Given the description of an element on the screen output the (x, y) to click on. 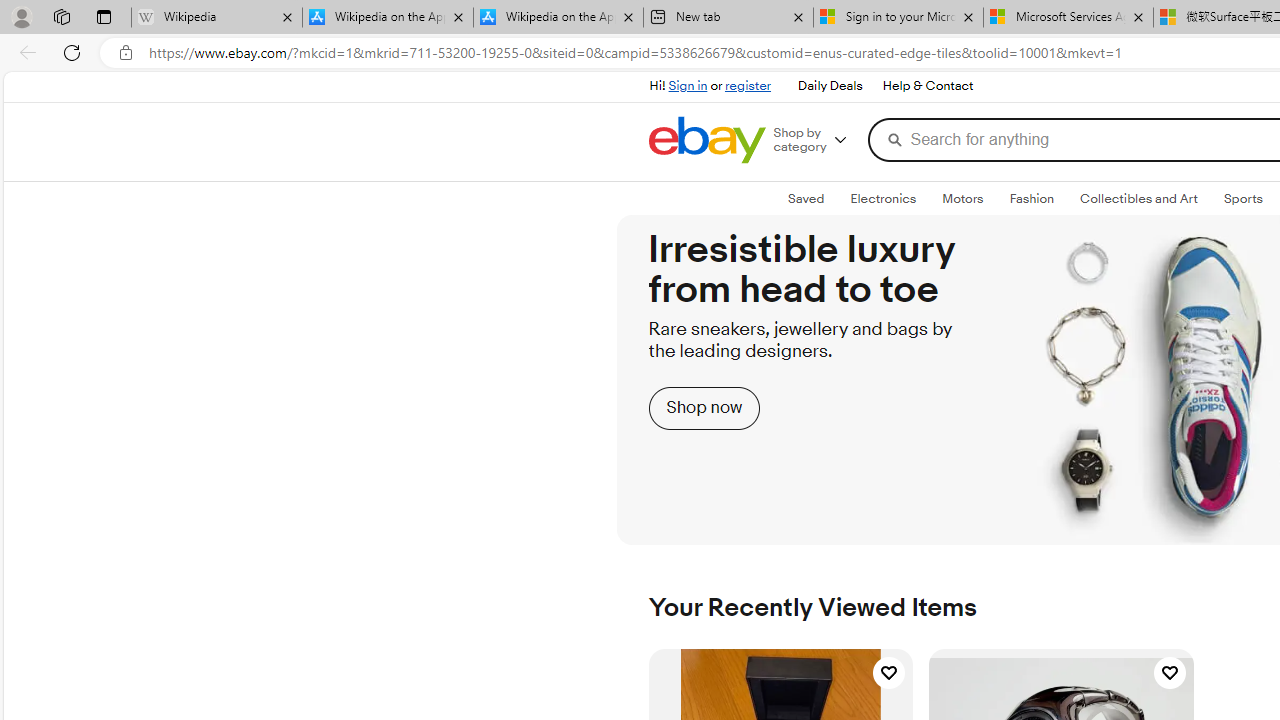
MotorsExpand: Motors (963, 199)
Collectibles and ArtExpand: Collectibles and Art (1138, 199)
Microsoft Services Agreement (1068, 17)
Motors (963, 198)
Saved (806, 198)
